Given the description of an element on the screen output the (x, y) to click on. 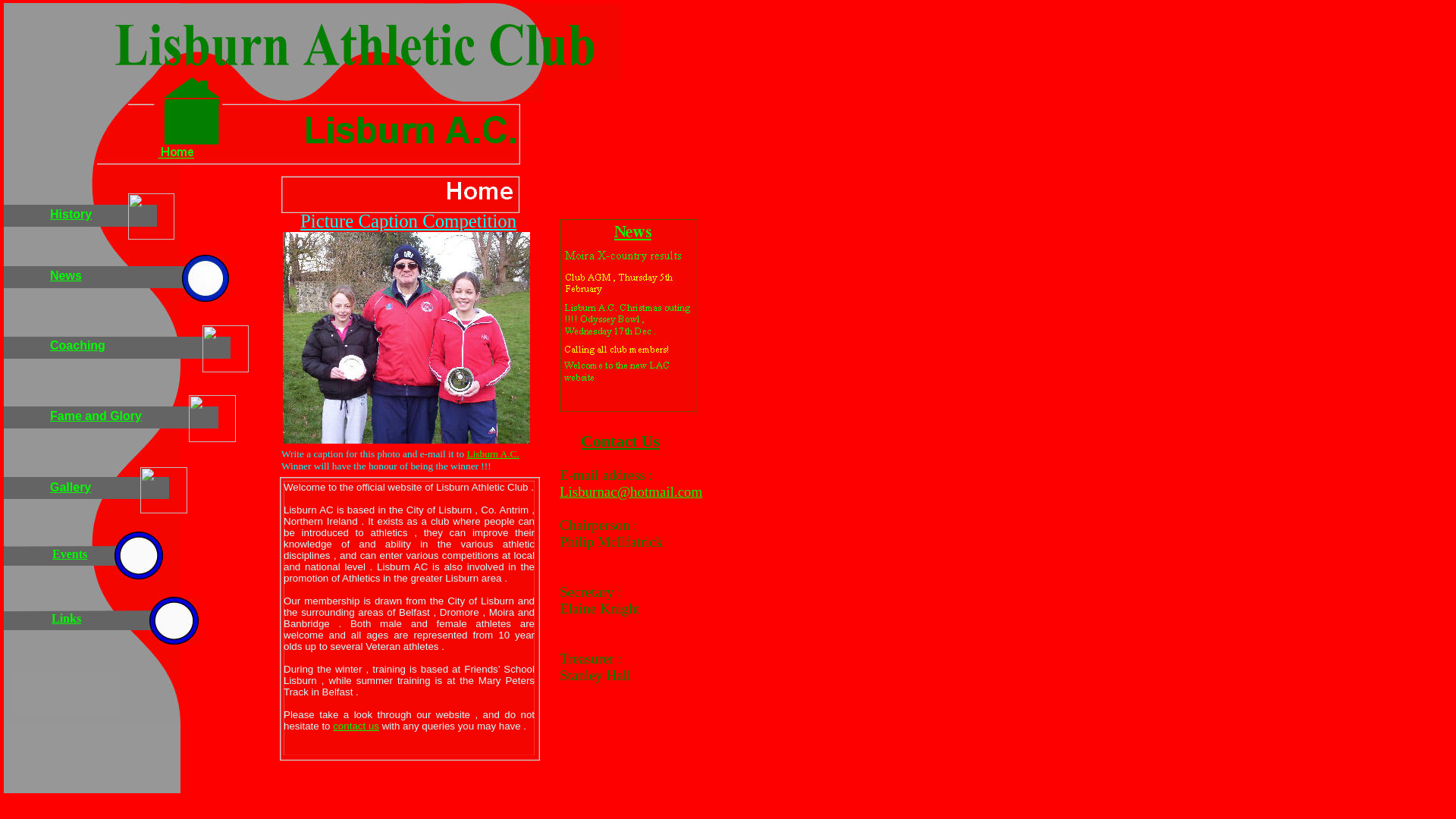
Events (69, 553)
Lisburn A.C. (493, 453)
Fame and Glory (95, 415)
Coaching (76, 345)
Home (175, 150)
News (65, 275)
Gallery (69, 486)
contact us (355, 726)
www.company.com (61, 685)
History (70, 214)
